Given the description of an element on the screen output the (x, y) to click on. 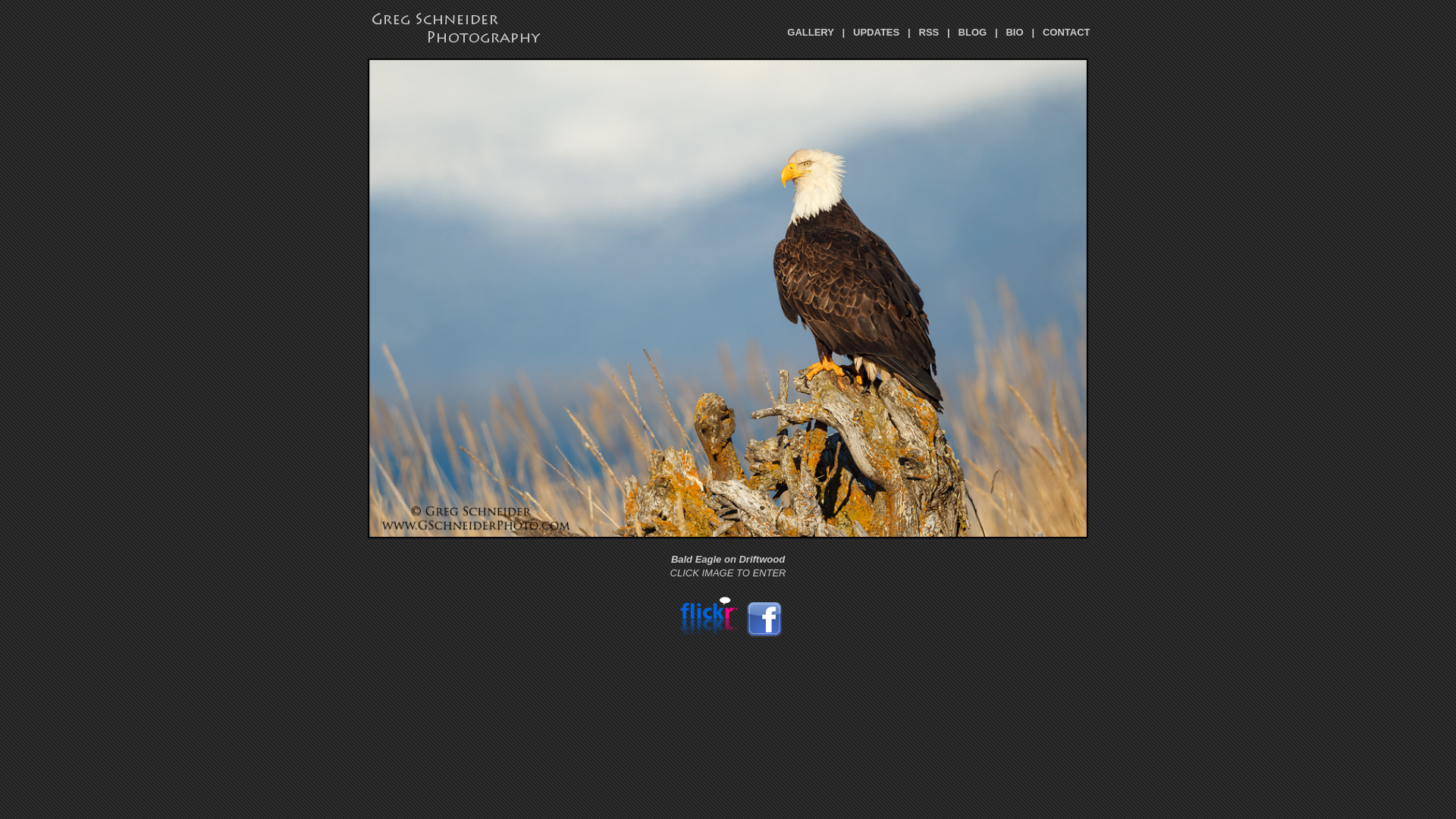
BIO Element type: text (1013, 31)
BLOG Element type: text (972, 31)
CONTACT Element type: text (1066, 31)
GALLERY Element type: text (810, 31)
UPDATES Element type: text (876, 31)
CLICK IMAGE TO ENTER Element type: text (728, 571)
RSS Element type: text (929, 31)
